Given the description of an element on the screen output the (x, y) to click on. 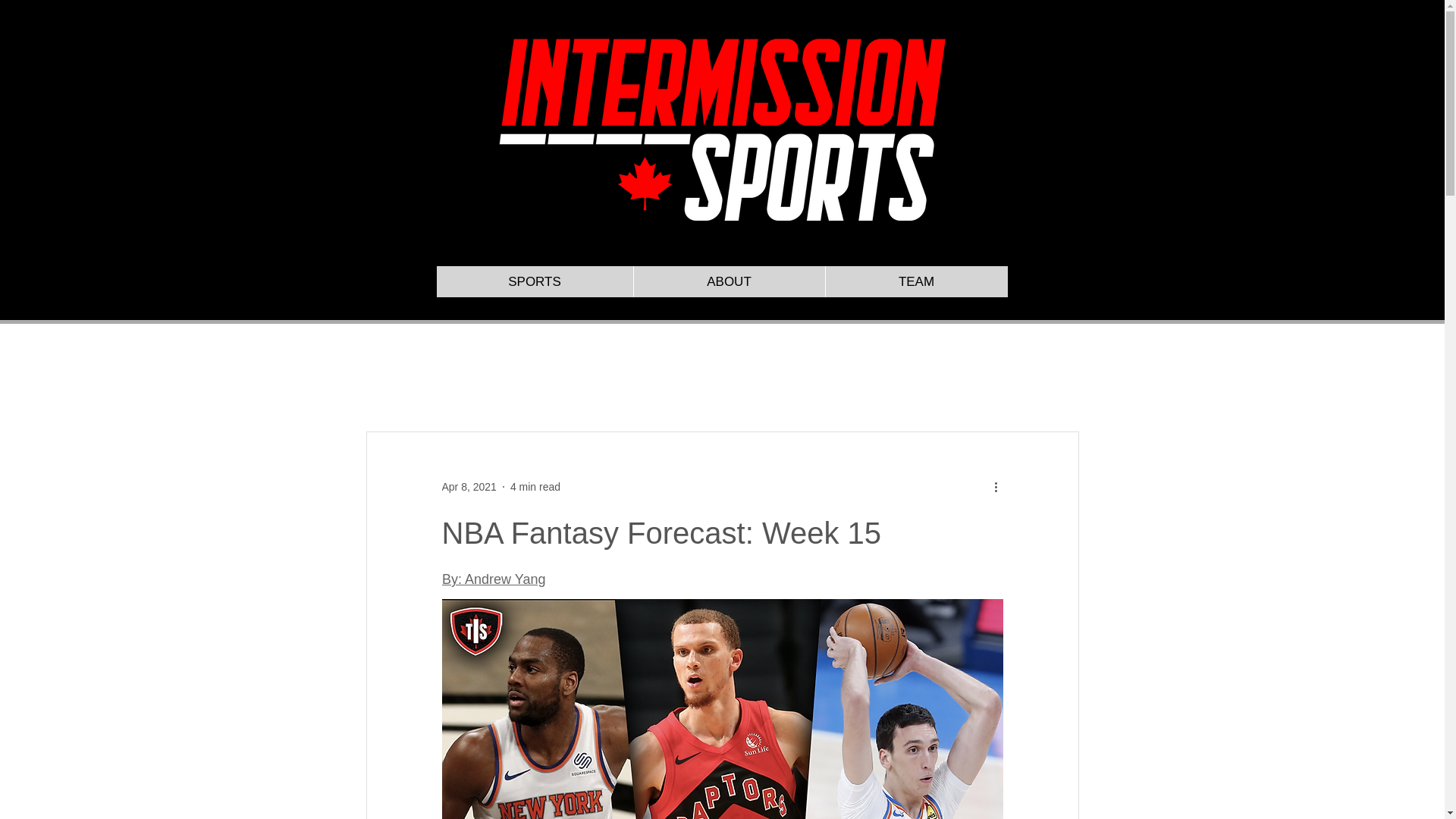
ABOUT (727, 281)
4 min read (535, 486)
TEAM (916, 281)
By: Andrew Yang (492, 579)
Apr 8, 2021 (468, 486)
SPORTS (534, 281)
